Given the description of an element on the screen output the (x, y) to click on. 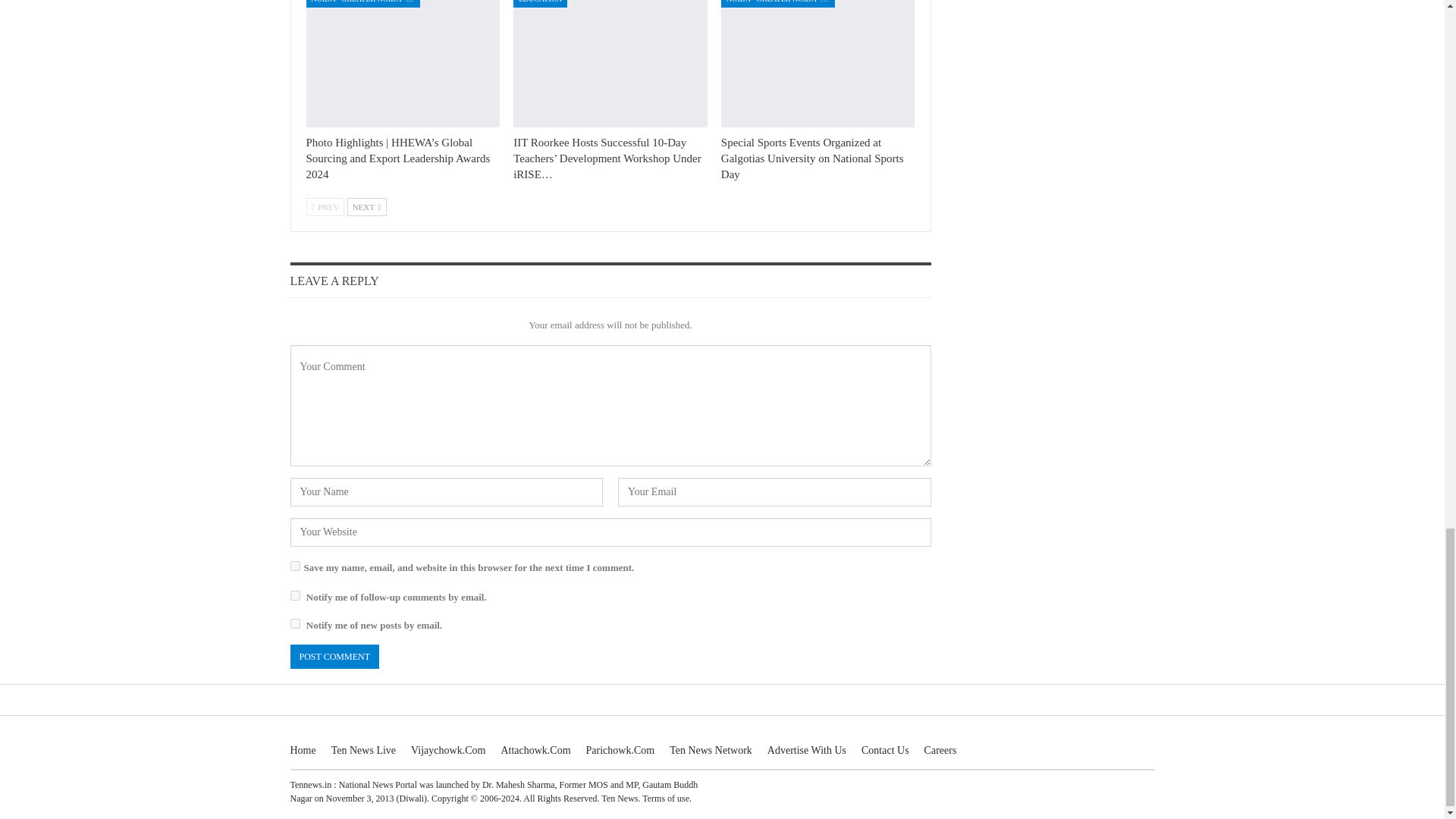
Previous (325, 207)
subscribe (294, 623)
subscribe (294, 595)
yes (294, 565)
Next (367, 207)
Post Comment (333, 656)
